Given the description of an element on the screen output the (x, y) to click on. 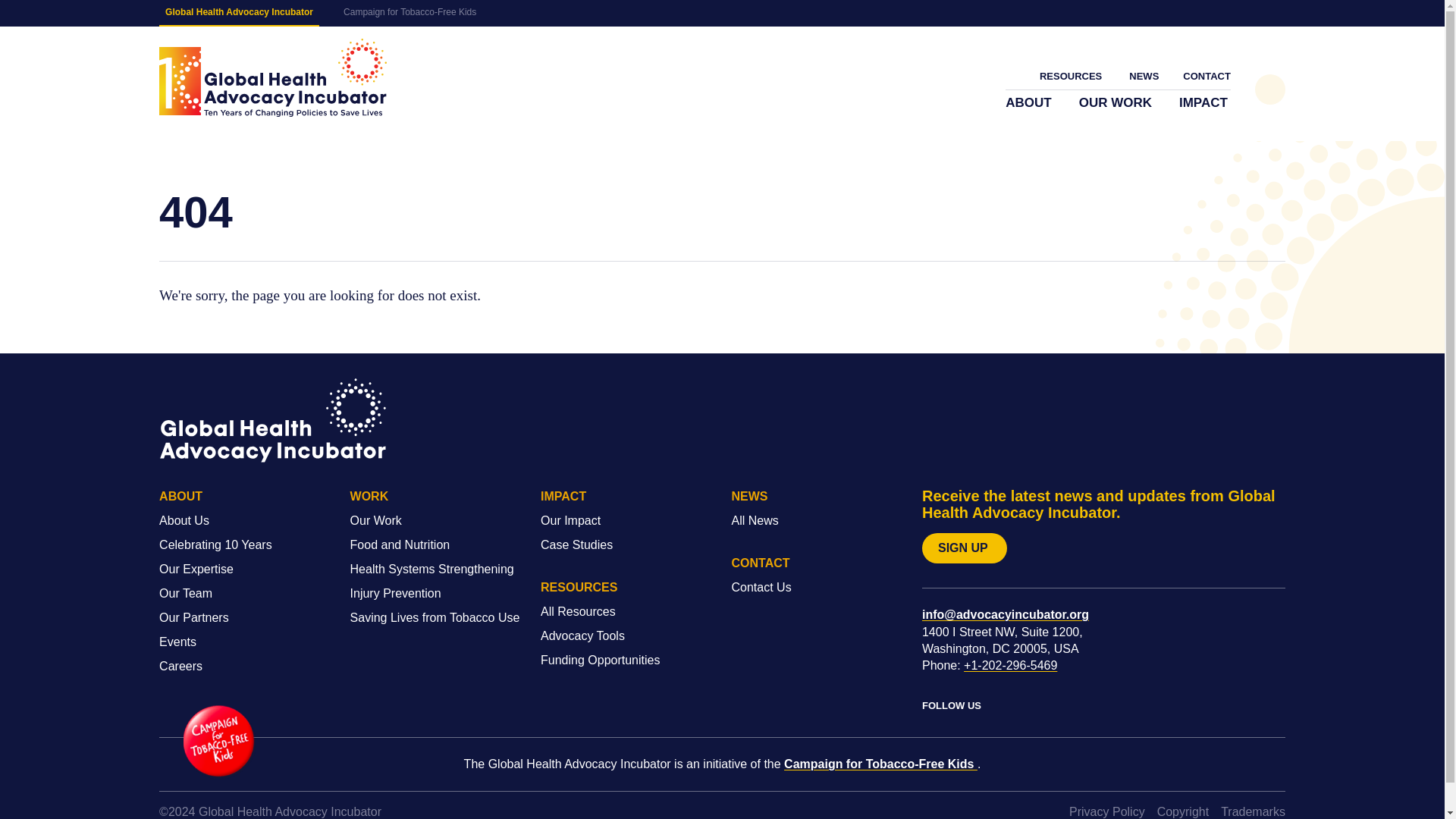
OUR WORK (1116, 103)
Global Health Advocacy Incubator (272, 77)
CONTACT (1206, 75)
Campaign for Tobacco-Free Kids (409, 12)
Global Health Advocacy Incubator (238, 13)
RESOURCES (1072, 76)
ABOUT (1030, 103)
NEWS (1143, 75)
